Given the description of an element on the screen output the (x, y) to click on. 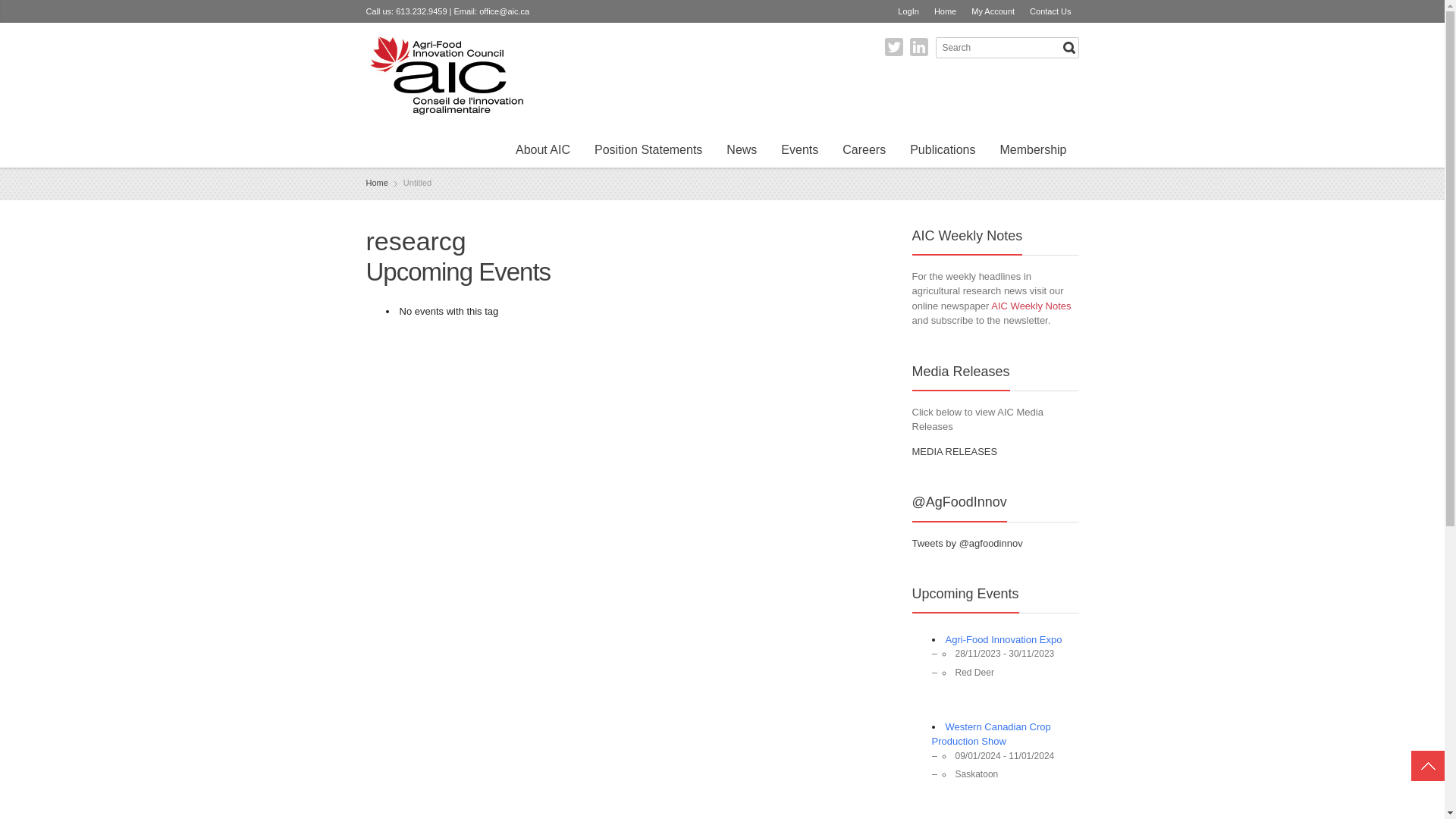
Tweets by @agfoodinnov Element type: text (966, 543)
Agri-Food Innovation Expo Element type: text (1003, 639)
News Element type: text (741, 150)
Position Statements Element type: text (648, 150)
LinkedIn Element type: text (919, 46)
Western Canadian Crop Production Show Element type: text (991, 734)
Home Element type: text (376, 182)
AIC Weekly Notes Element type: text (1030, 305)
Top Element type: text (1427, 765)
My Account Element type: text (992, 11)
Search Element type: text (1069, 47)
Contact Us Element type: text (1050, 11)
Events Element type: text (799, 150)
LogIn Element type: text (908, 11)
Twitter Element type: text (893, 46)
Publications Element type: text (942, 150)
Membership Element type: text (1032, 150)
Careers Element type: text (863, 150)
About AIC Element type: text (542, 150)
Home Element type: text (944, 11)
office@aic.ca Element type: text (504, 10)
MEDIA RELEASES Element type: text (954, 451)
